Given the description of an element on the screen output the (x, y) to click on. 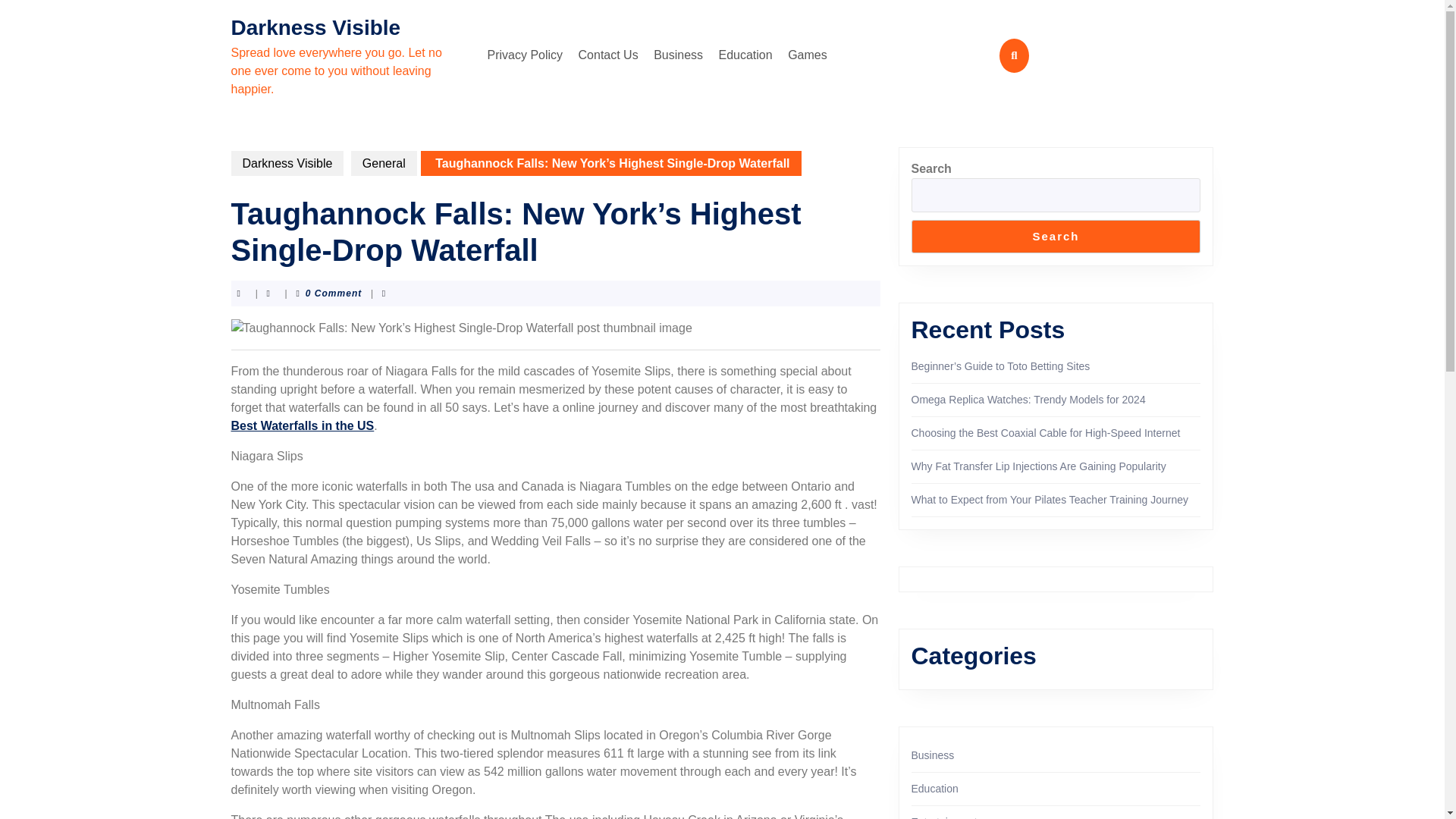
Search (1056, 236)
Business (678, 55)
Best Waterfalls in the US (302, 425)
What to Expect from Your Pilates Teacher Training Journey (1050, 499)
Omega Replica Watches: Trendy Models for 2024 (1028, 399)
Contact Us (608, 55)
Education (934, 788)
Business (933, 755)
Entertainment (943, 817)
General (383, 163)
